Given the description of an element on the screen output the (x, y) to click on. 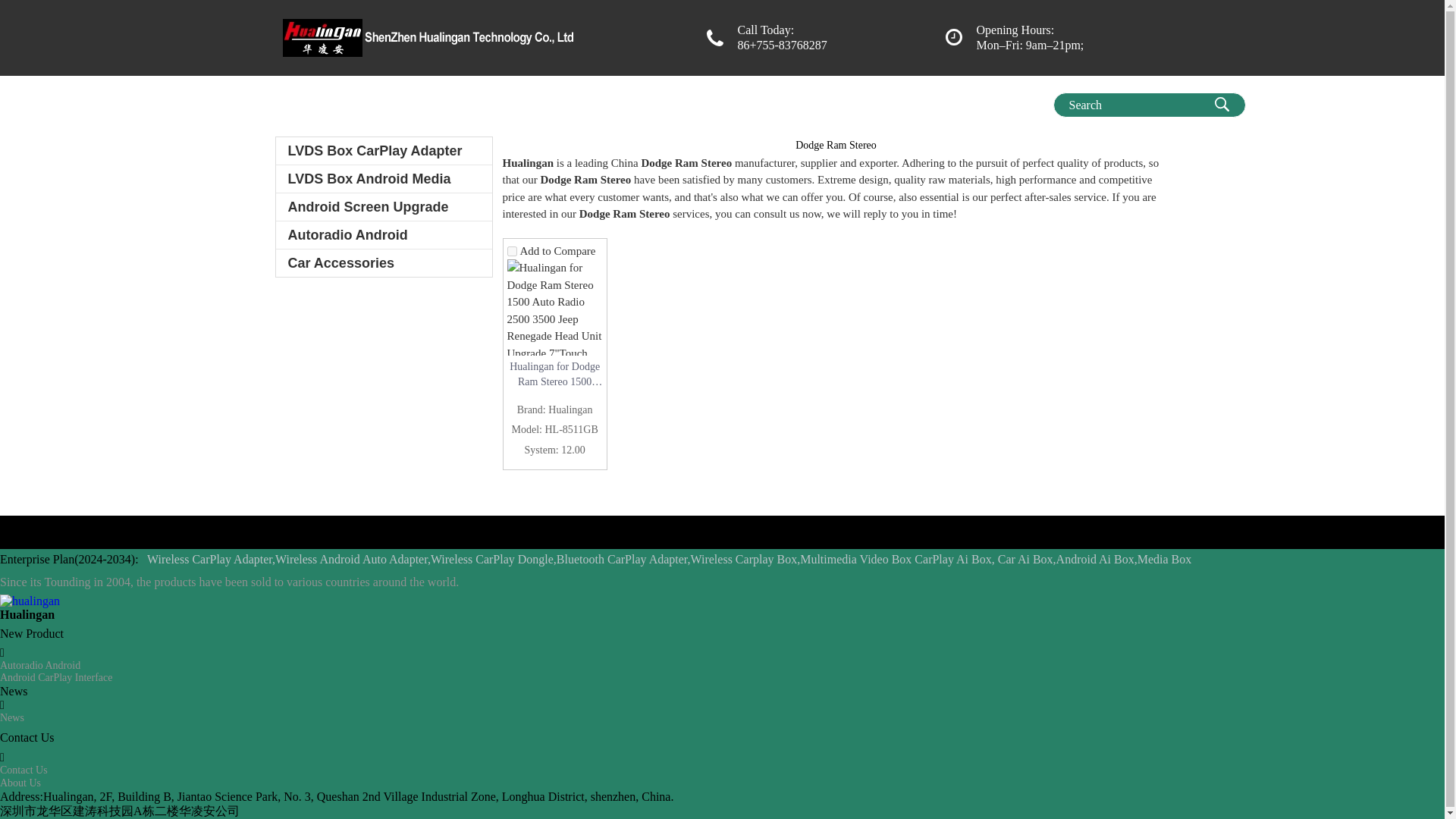
Multimedia Video Box (613, 101)
LVDS Box CarPlay Adapter (384, 150)
Hualingan (307, 101)
AutoRadio Upgrade (874, 101)
Products (368, 101)
Multimedia Screen Upgrade (474, 101)
LVDS Box CarPlay Adapter (384, 150)
Wireless CarPlay Adapter (747, 101)
LVDS Box Android Media (384, 178)
LVDS Box Android Media (384, 178)
on (511, 251)
